Given the description of an element on the screen output the (x, y) to click on. 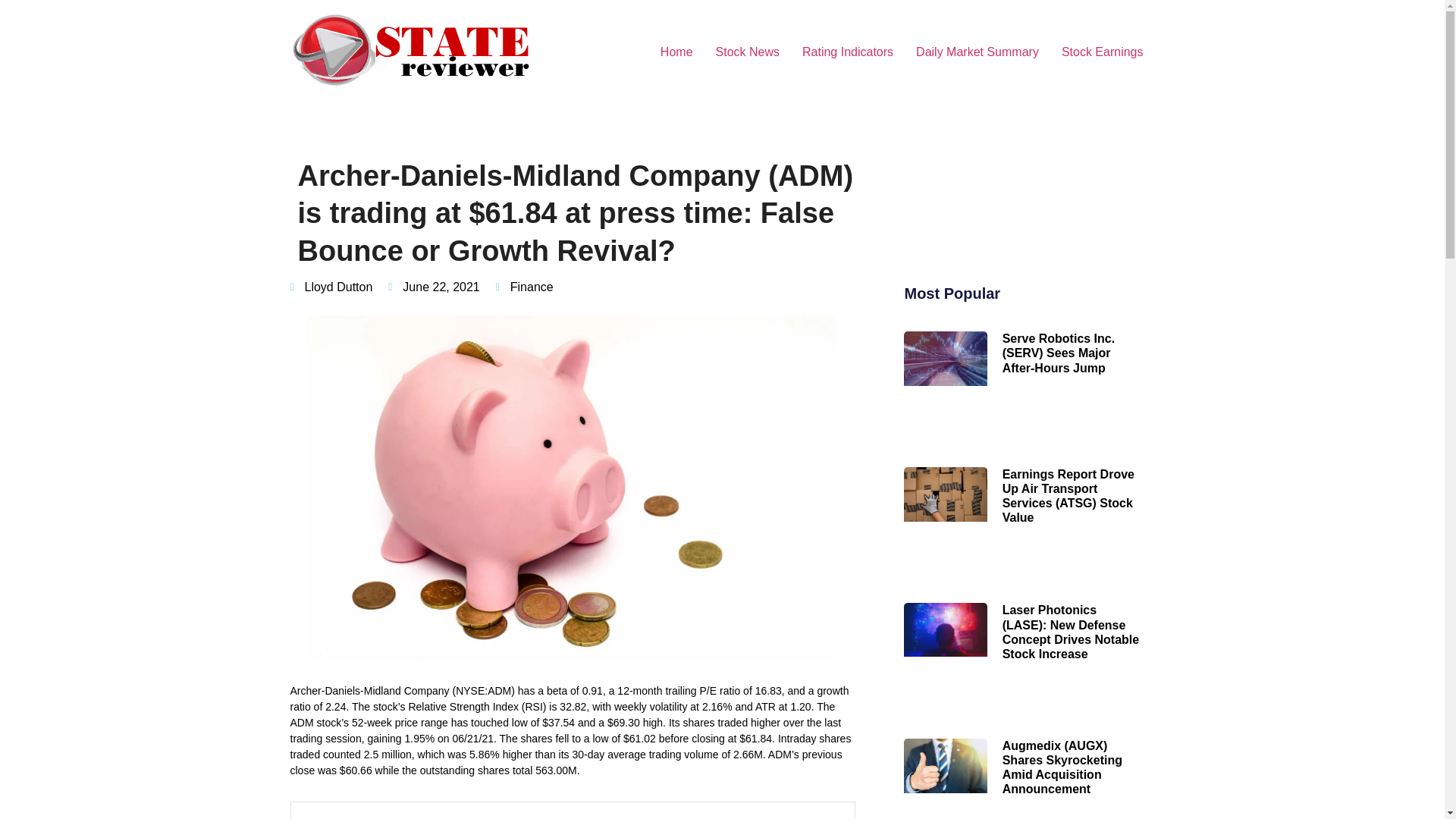
June 22, 2021 (433, 287)
Finance (532, 286)
Lloyd Dutton (330, 287)
Stock Earnings (1101, 51)
Daily Market Summary (976, 51)
Home (676, 51)
Stock News (747, 51)
Rating Indicators (847, 51)
